Given the description of an element on the screen output the (x, y) to click on. 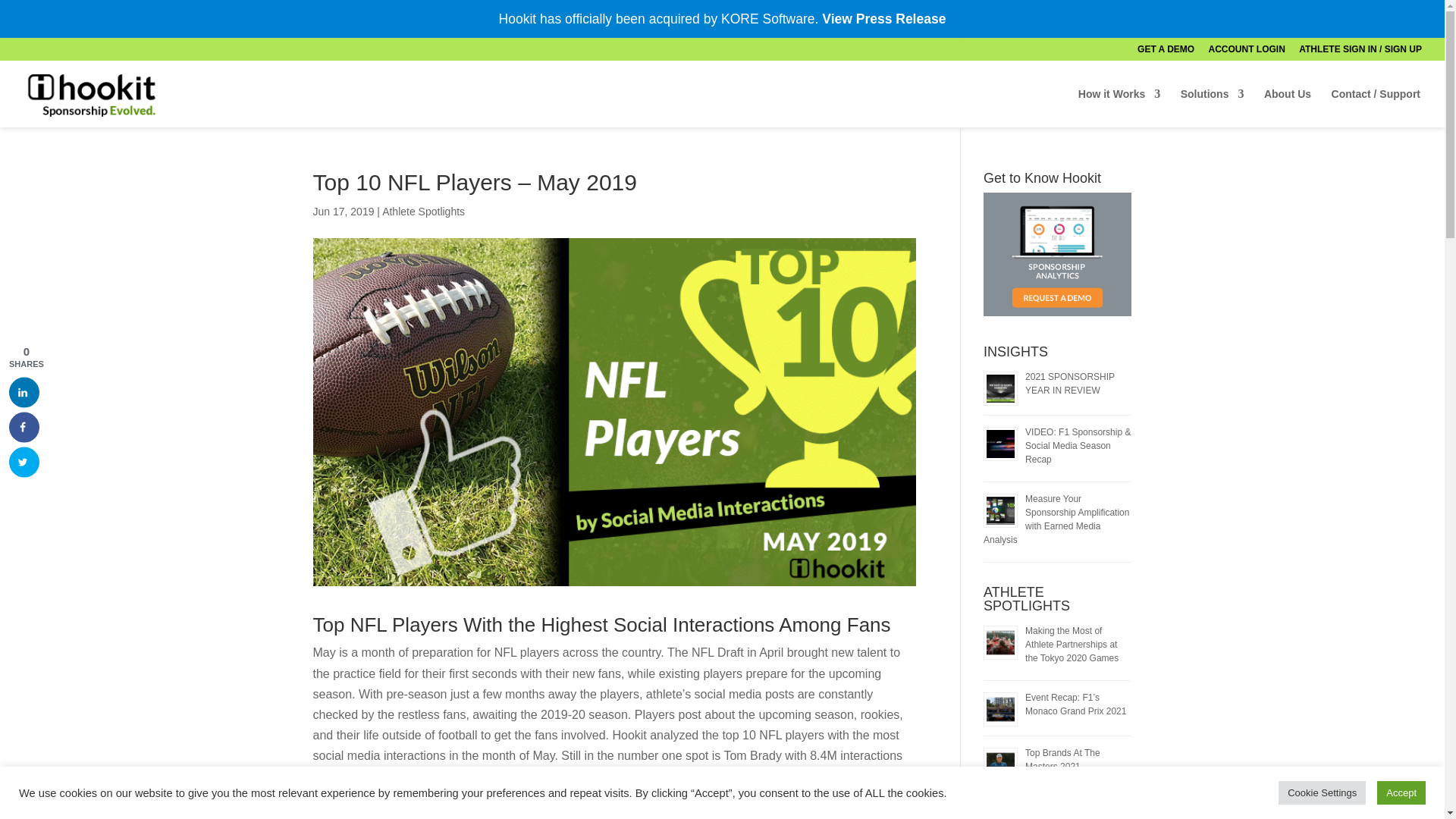
About Us (1287, 107)
Solutions (1212, 107)
Share on Facebook (23, 426)
How it Works (1119, 107)
Share on Twitter (23, 461)
GET A DEMO (1165, 52)
ACCOUNT LOGIN (1246, 52)
View Press Release (883, 17)
Share on LinkedIn (23, 391)
